Given the description of an element on the screen output the (x, y) to click on. 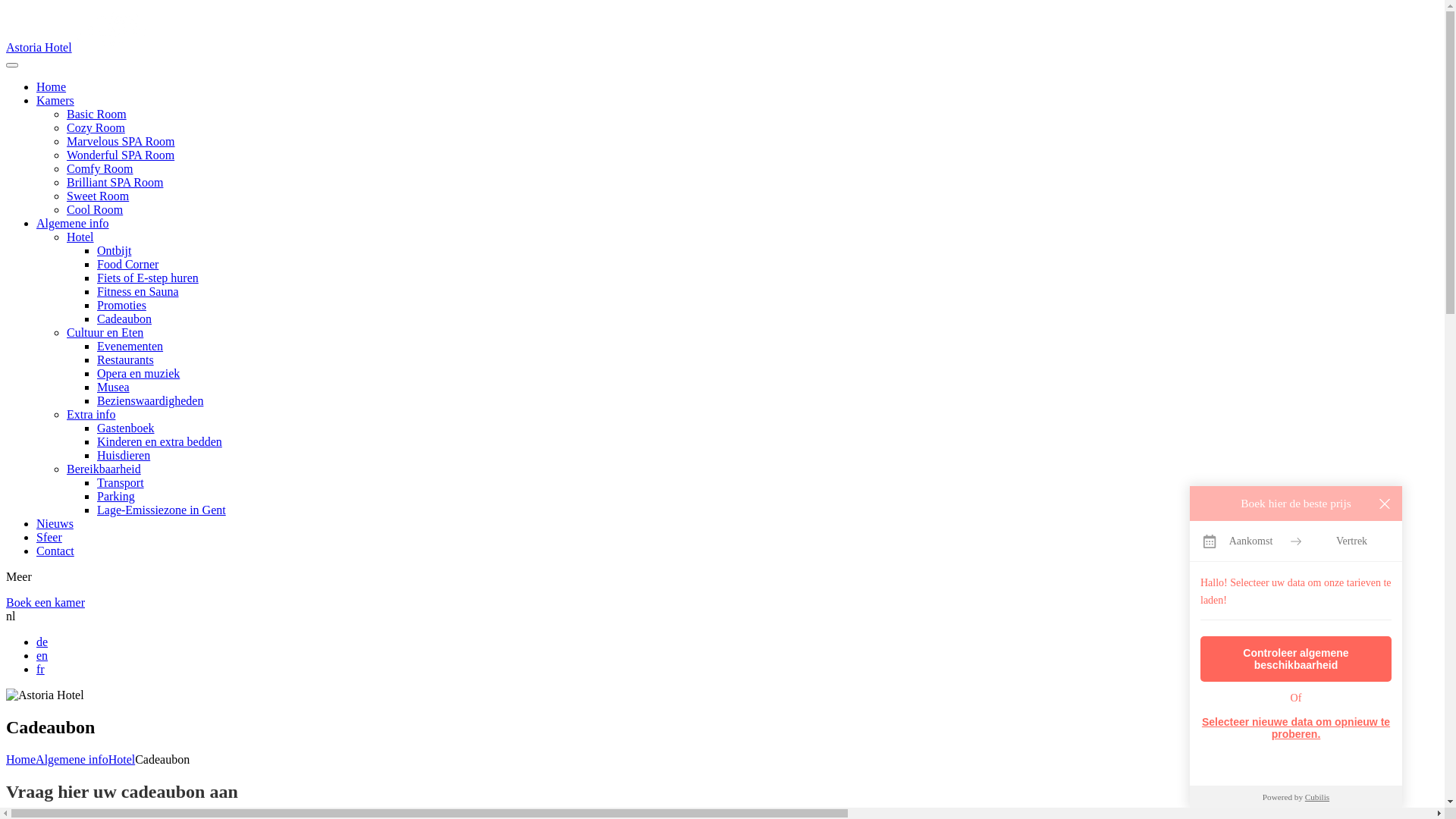
Comfy Room Element type: text (99, 168)
Algemene info Element type: text (72, 222)
Transport Element type: text (120, 482)
fr Element type: text (40, 668)
Selecteer nieuwe data om opnieuw te proberen. Element type: text (1295, 727)
Ontbijt Element type: text (114, 250)
Contact Element type: text (55, 550)
Boek een kamer Element type: text (45, 602)
Sweet Room Element type: text (97, 195)
Nieuws Element type: text (54, 523)
Controleer algemene beschikbaarheid Element type: text (1295, 658)
Hotel Element type: text (121, 759)
Promoties Element type: text (121, 304)
Cultuur en Eten Element type: text (104, 332)
Basic Room Element type: text (96, 113)
Home Element type: text (50, 86)
Hotel Element type: text (80, 236)
Cool Room Element type: text (94, 209)
Food Corner Element type: text (127, 263)
Cubilis Element type: text (1317, 796)
Opera en muziek Element type: text (138, 373)
Fitness en Sauna Element type: text (137, 291)
Sfeer Element type: text (49, 536)
de Element type: text (41, 641)
Extra info Element type: text (90, 413)
Bereikbaarheid Element type: text (103, 468)
Brilliant SPA Room Element type: text (114, 181)
Lage-Emissiezone in Gent Element type: text (161, 509)
Musea Element type: text (113, 386)
Home Element type: text (20, 759)
Cadeaubon Element type: text (124, 318)
Astoria Hotel Element type: text (79, 46)
Cozy Room Element type: text (95, 127)
Marvelous SPA Room Element type: text (120, 140)
Restaurants Element type: text (125, 359)
Fiets of E-step huren Element type: text (147, 277)
en Element type: text (41, 655)
Huisdieren Element type: text (123, 454)
Evenementen Element type: text (130, 345)
Kamers Element type: text (55, 100)
Astoria Hotel Element type: hover (45, 695)
Kinderen en extra bedden Element type: text (159, 441)
Bezienswaardigheden Element type: text (150, 400)
Wonderful SPA Room Element type: text (120, 154)
Gastenboek Element type: text (125, 427)
Algemene info Element type: text (71, 759)
Parking Element type: text (115, 495)
